Given the description of an element on the screen output the (x, y) to click on. 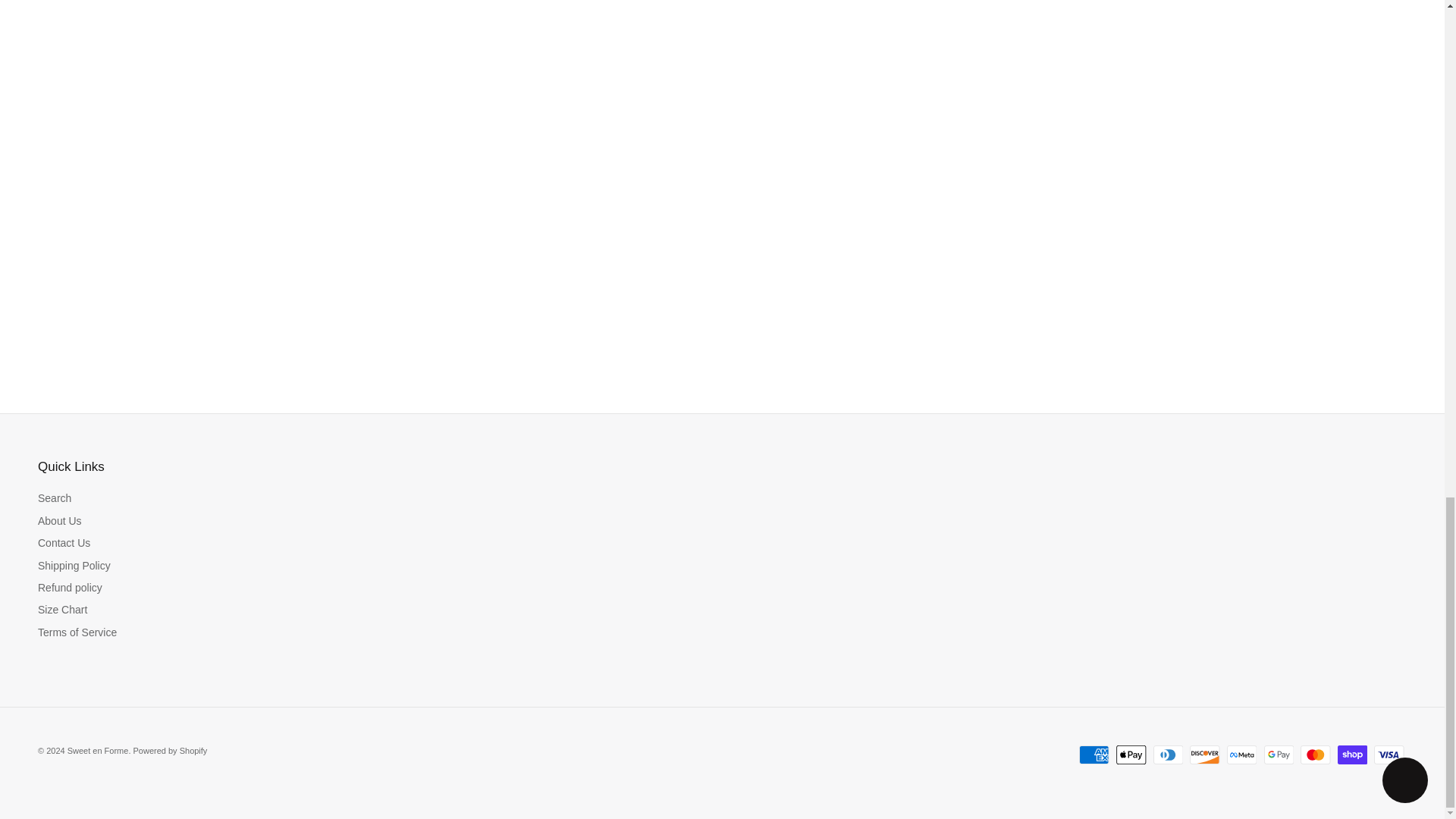
Discover (1204, 754)
Meta Pay (1241, 754)
Shop Pay (1352, 754)
Apple Pay (1130, 754)
American Express (1093, 754)
Diners Club (1168, 754)
Mastercard (1315, 754)
Google Pay (1277, 754)
